Given the description of an element on the screen output the (x, y) to click on. 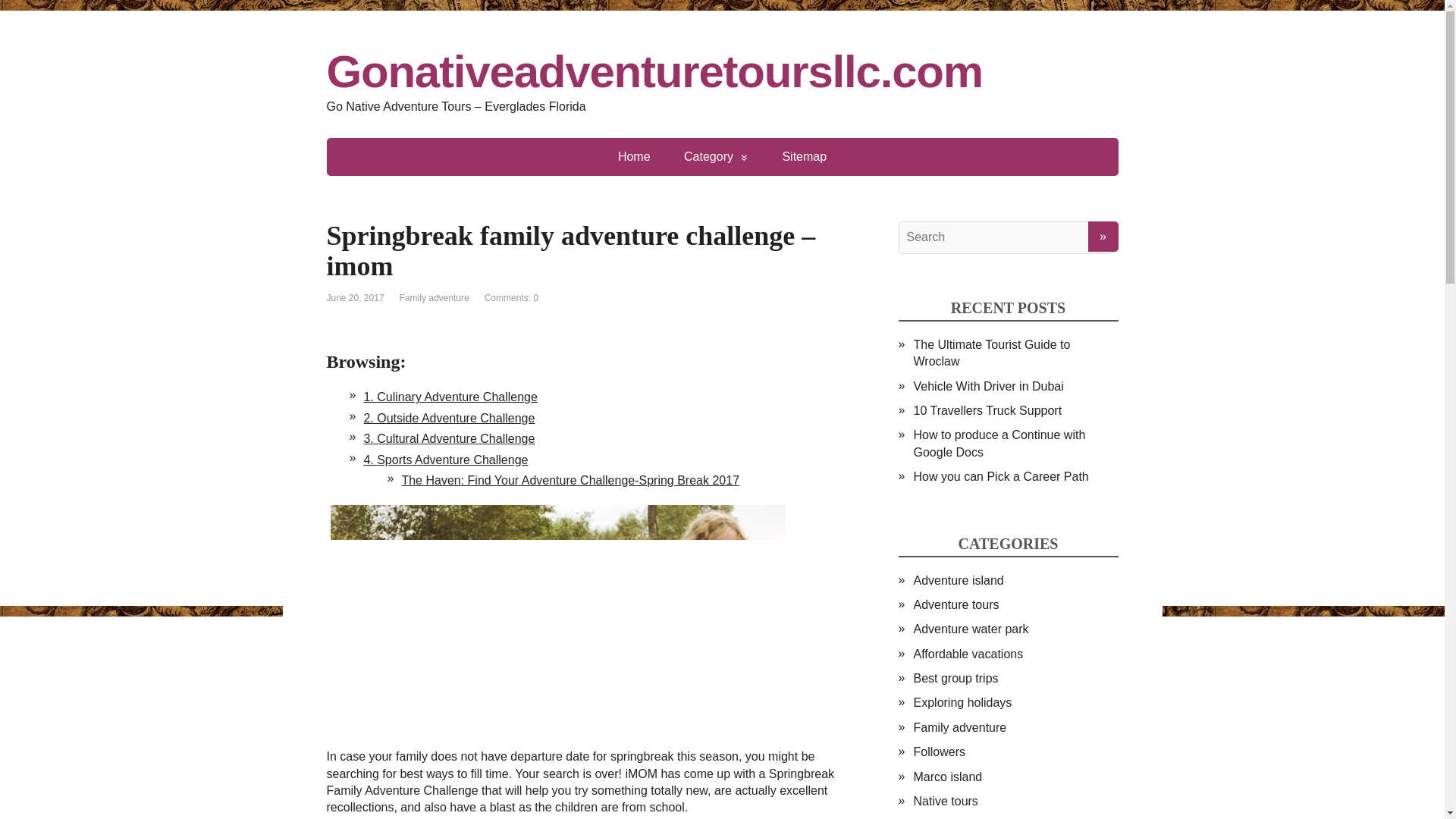
Home (633, 157)
Gonativeadventuretoursllc.com (722, 71)
4. Sports Adventure Challenge (444, 459)
Sitemap (804, 157)
10 Travellers Truck Support (986, 410)
Family adventure (433, 297)
How to produce a Continue with Google Docs (998, 442)
1. Culinary Adventure Challenge (449, 396)
Comments: 0 (511, 297)
3. Cultural Adventure Challenge (448, 438)
The Haven: Find Your Adventure Challenge-Spring Break 2017 (570, 480)
Adventure island (957, 580)
How you can Pick a Career Path (999, 476)
Vehicle With Driver in Dubai (987, 386)
2. Outside Adventure Challenge (448, 418)
